Given the description of an element on the screen output the (x, y) to click on. 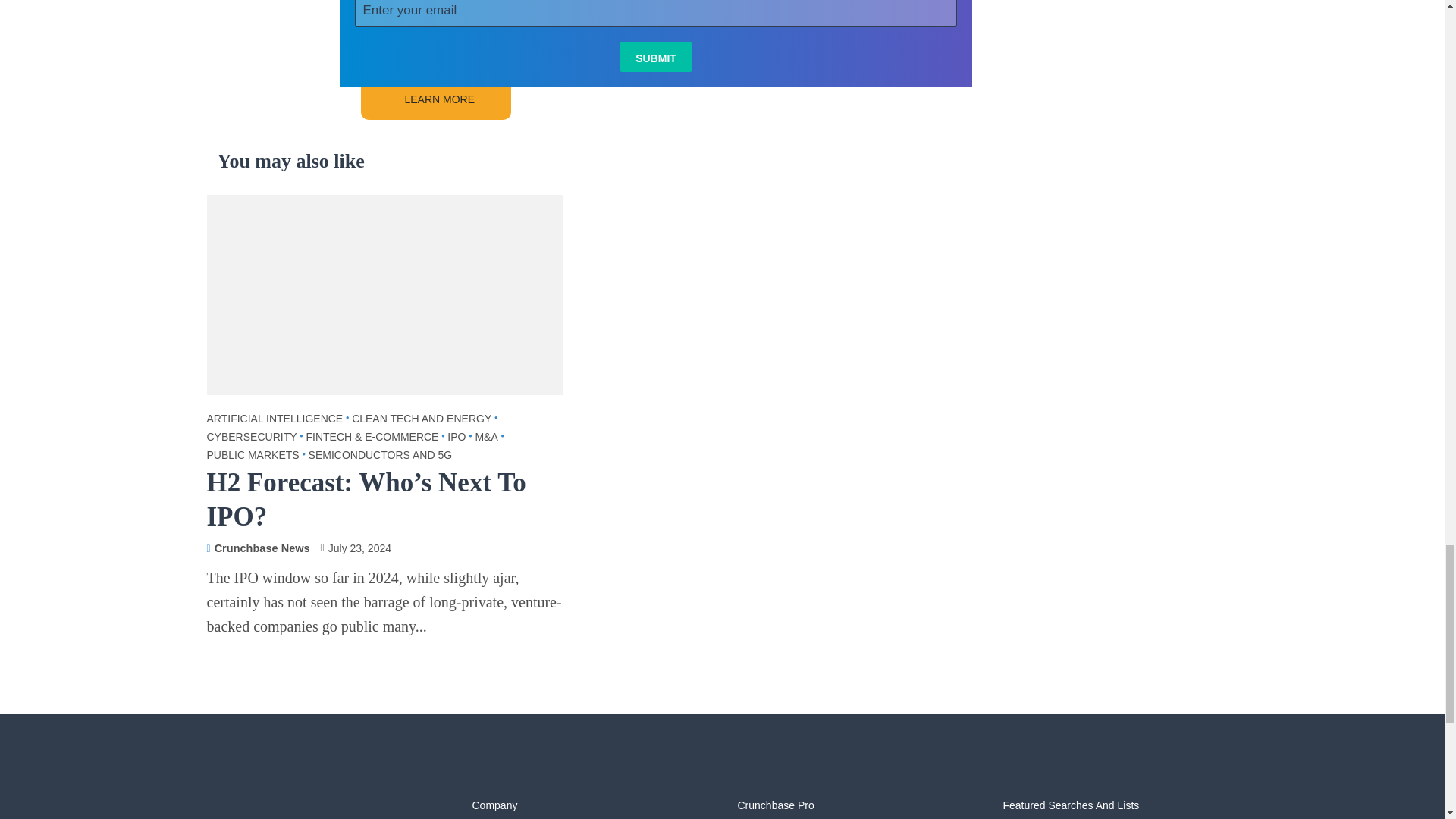
Enter your email (656, 13)
Submit (655, 56)
